Given the description of an element on the screen output the (x, y) to click on. 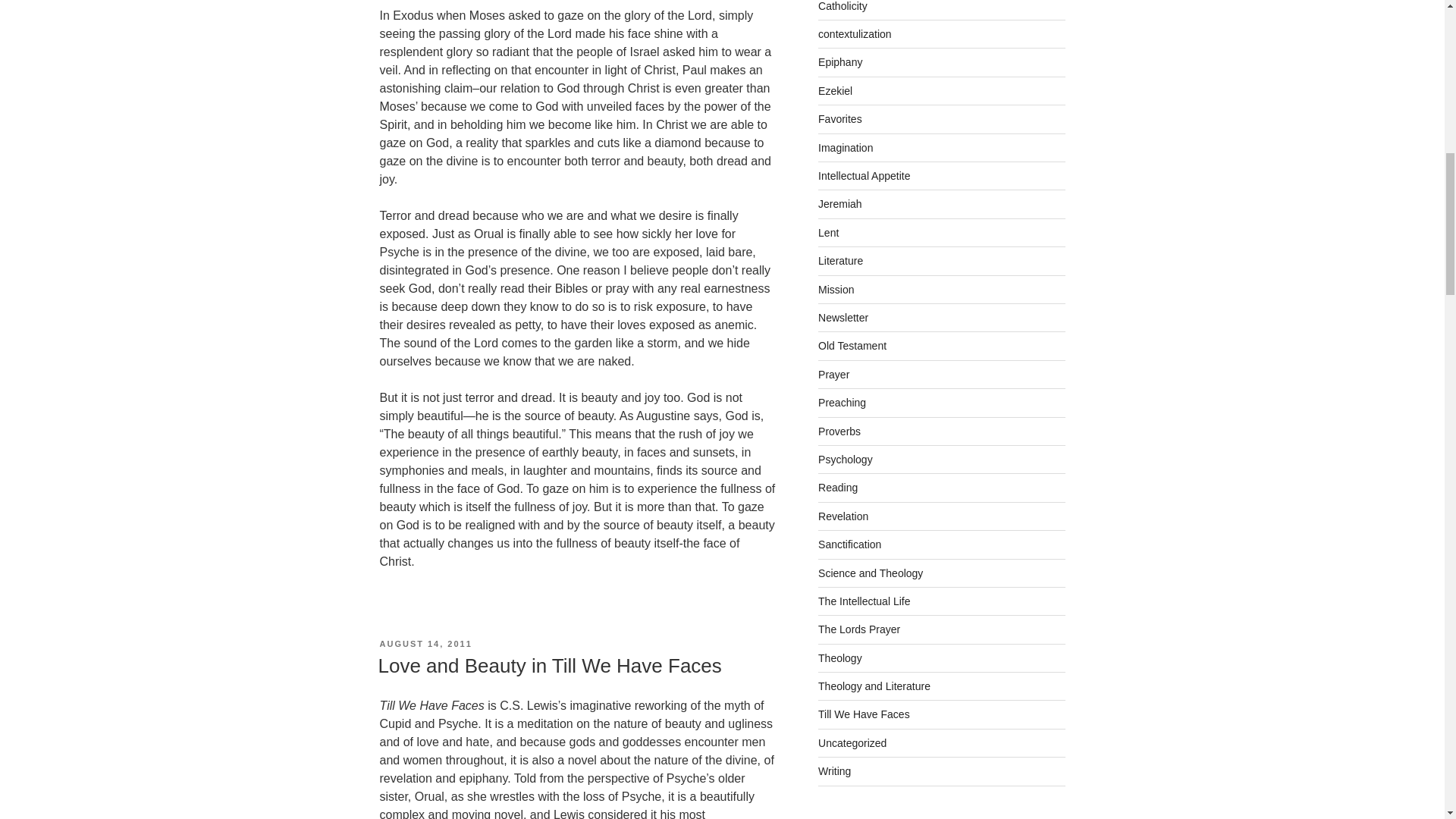
Jeremiah (839, 203)
Intellectual Appetite (864, 175)
Preaching (842, 402)
Love and Beauty in Till We Have Faces (548, 665)
AUGUST 14, 2011 (424, 643)
Newsletter (842, 317)
Catholicity (842, 6)
Favorites (839, 119)
Literature (840, 260)
Old Testament (852, 345)
Prayer (833, 374)
Mission (835, 289)
Revelation (842, 516)
Reading (837, 487)
Sanctification (849, 544)
